Given the description of an element on the screen output the (x, y) to click on. 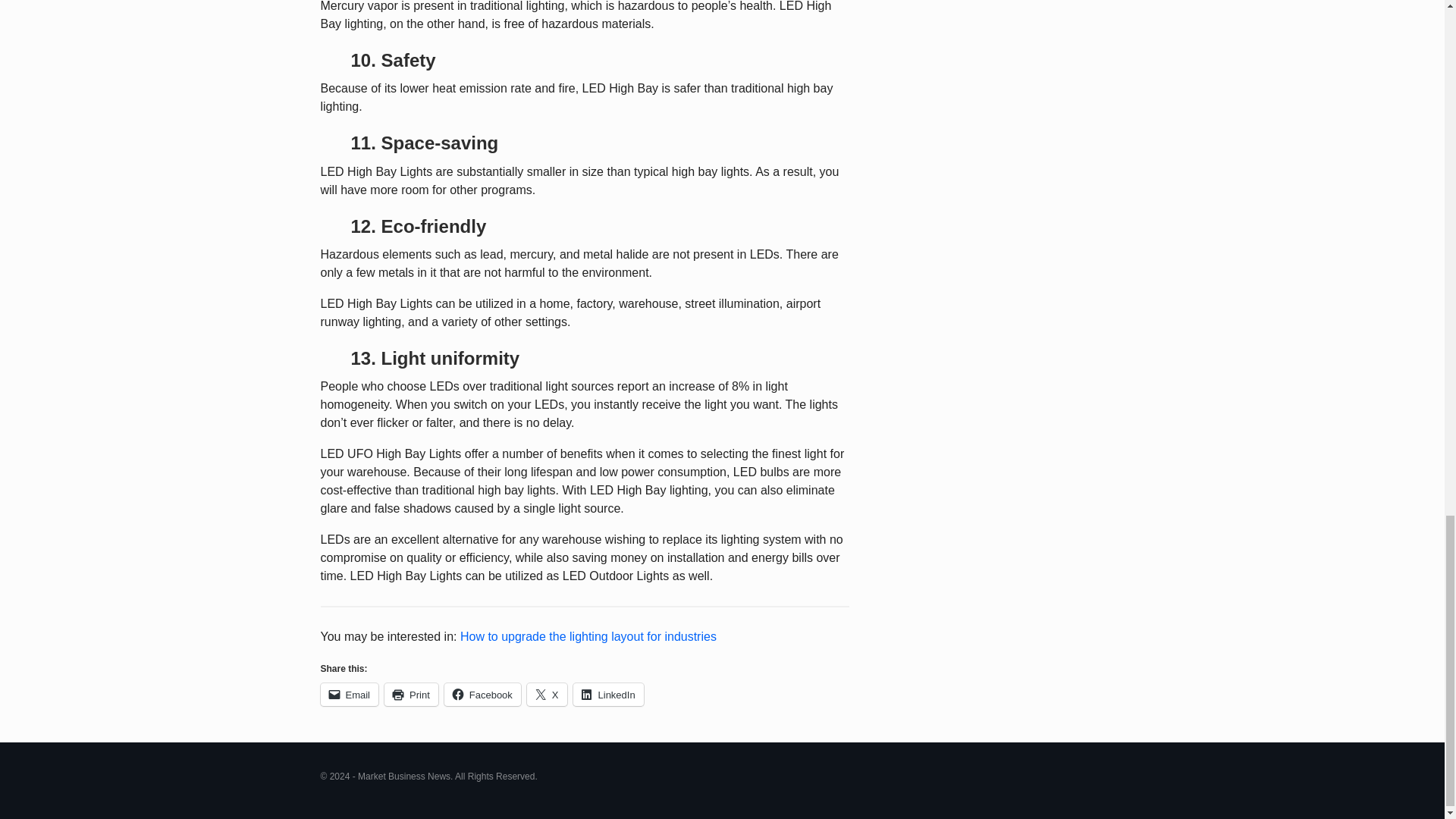
Click to share on X (547, 694)
Click to share on LinkedIn (608, 694)
Facebook (482, 694)
X (547, 694)
Email (349, 694)
How to upgrade the lighting layout for industries (588, 635)
LinkedIn (608, 694)
Click to share on Facebook (482, 694)
Click to email a link to a friend (349, 694)
Print (411, 694)
Click to print (411, 694)
